Given the description of an element on the screen output the (x, y) to click on. 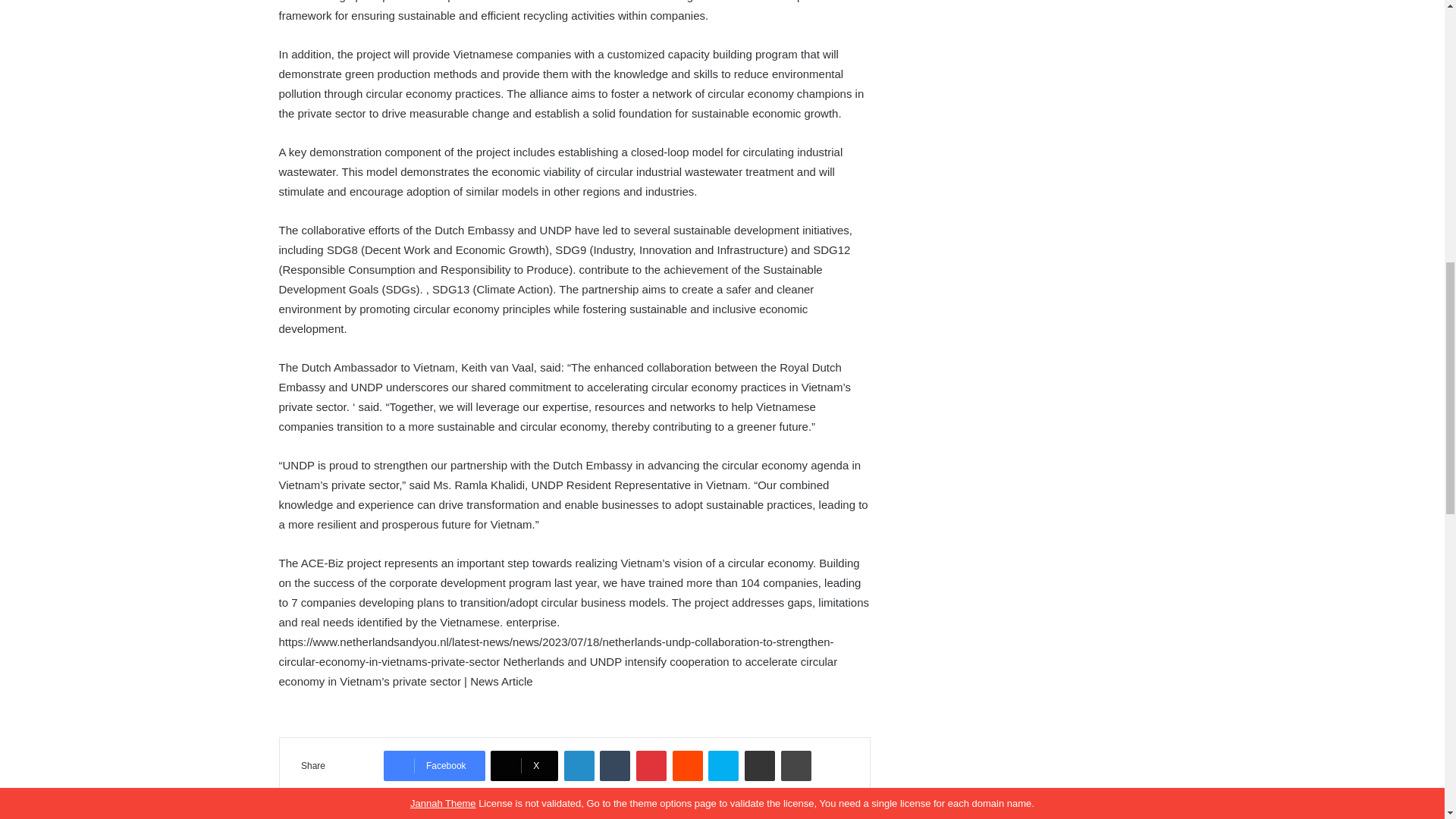
Facebook (434, 766)
LinkedIn (579, 766)
X (523, 766)
Reddit (687, 766)
LinkedIn (579, 766)
Tumblr (614, 766)
Pinterest (651, 766)
Tumblr (614, 766)
Facebook (434, 766)
Pinterest (651, 766)
X (523, 766)
Skype (722, 766)
Reddit (687, 766)
Skype (722, 766)
